Given the description of an element on the screen output the (x, y) to click on. 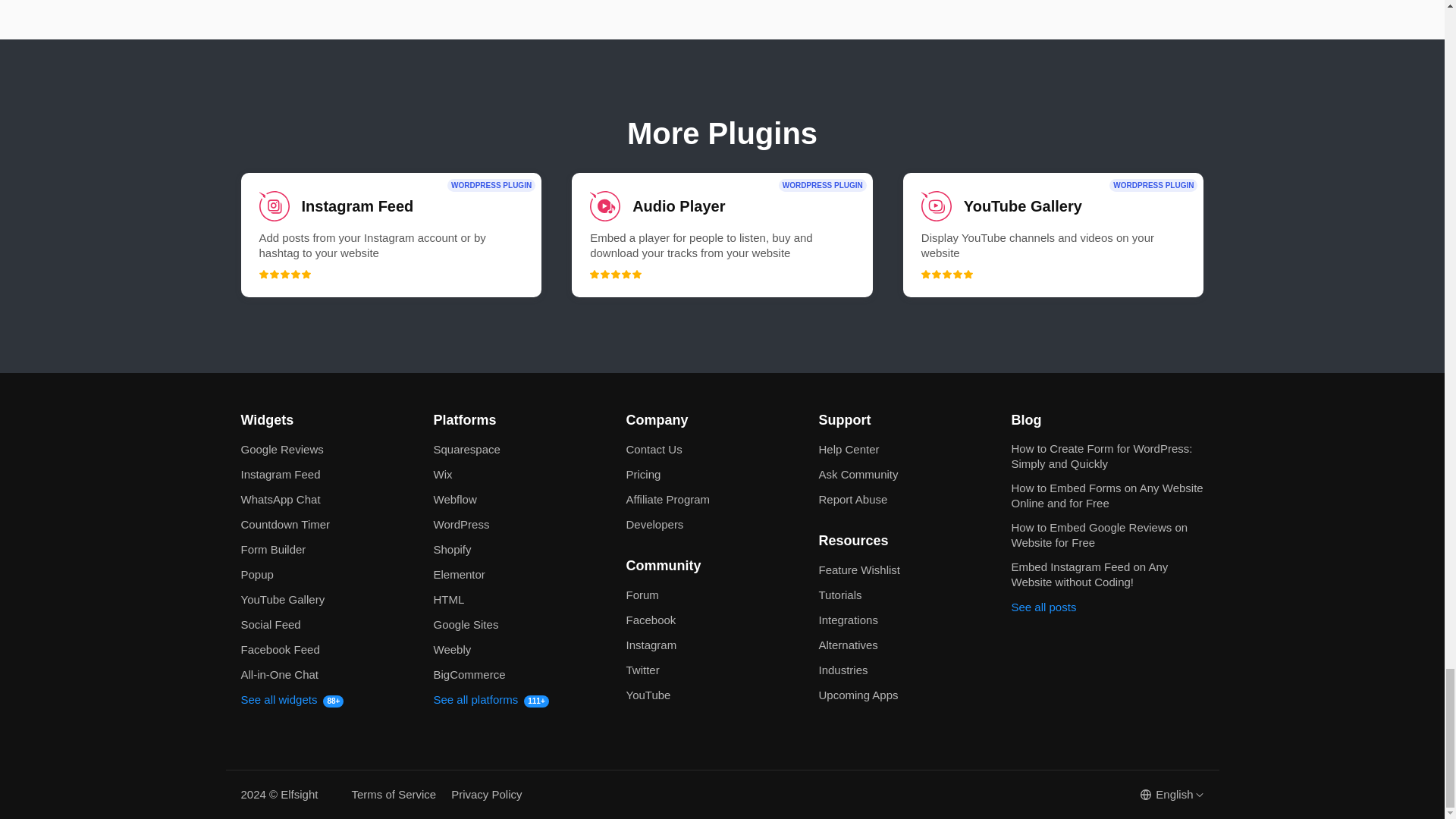
Instagram Feed (391, 234)
YouTube Gallery (1053, 234)
Audio Player (722, 234)
